Given the description of an element on the screen output the (x, y) to click on. 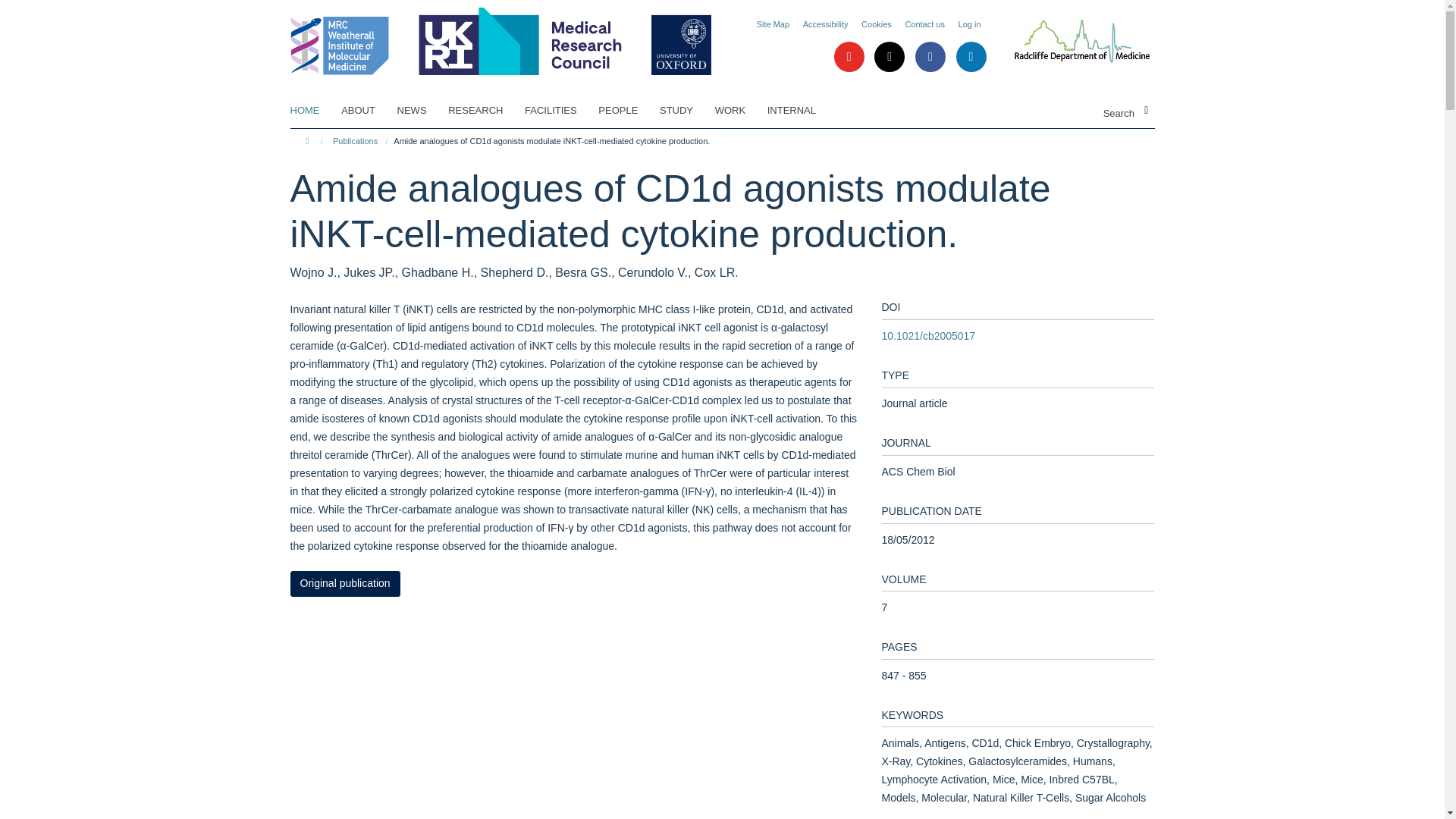
Cookies (876, 23)
Follow us on Linkedin (970, 57)
Site Map (773, 23)
Follow us on Twitter (891, 57)
Accessibility (825, 23)
NEWS (421, 110)
Radcliffe Department of Medicine (1069, 40)
FACILITIES (559, 110)
ABOUT (367, 110)
Log in (969, 23)
